Given the description of an element on the screen output the (x, y) to click on. 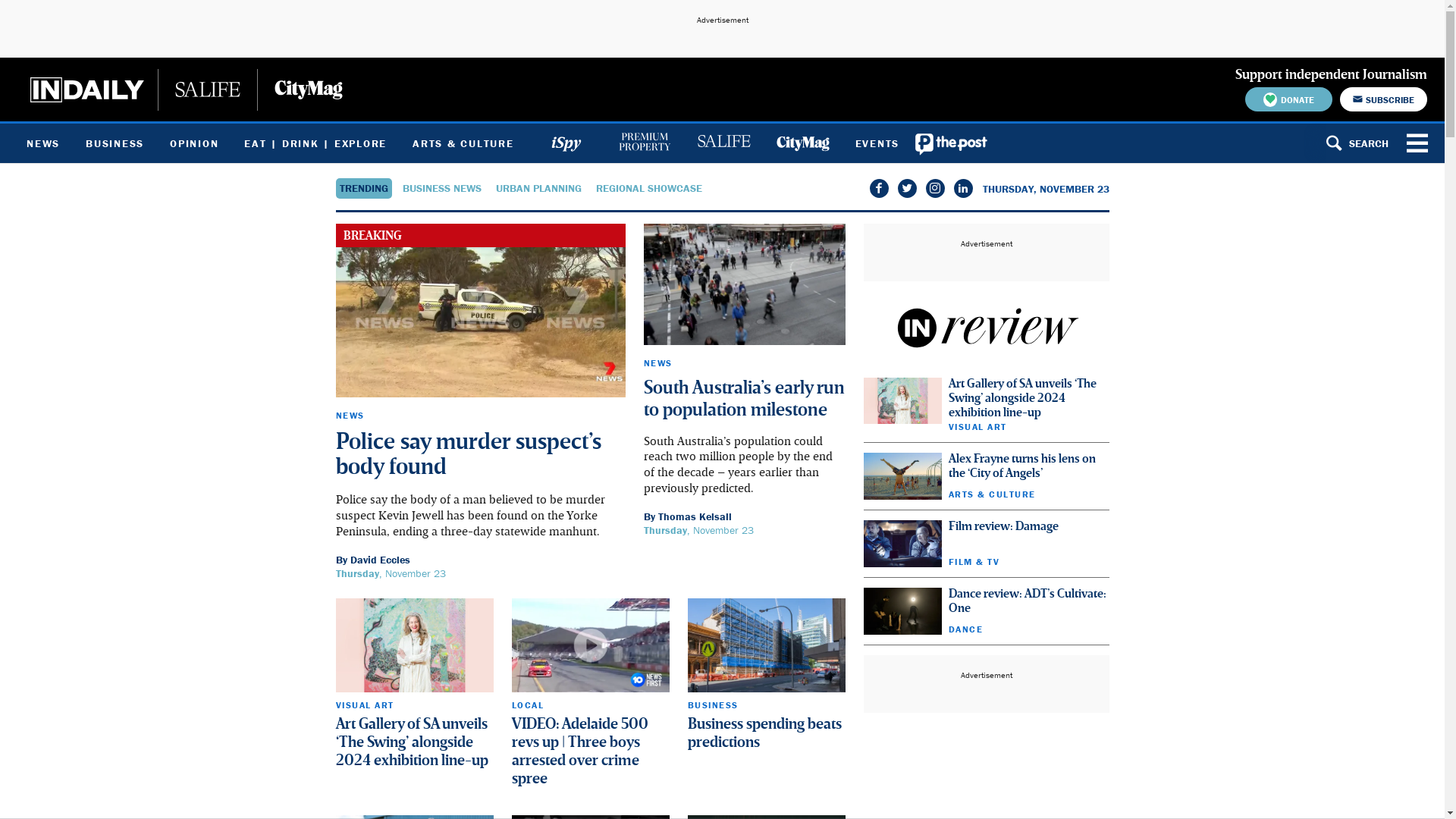
NEWS Element type: text (349, 414)
Film review: Damage Element type: text (1002, 526)
VISUAL ART Element type: text (976, 426)
FILM & TV Element type: text (973, 561)
URBAN PLANNING Element type: text (538, 187)
BUSINESS Element type: text (114, 143)
LOCAL Element type: text (527, 704)
VISUAL ART Element type: text (364, 704)
DONATE Element type: text (1288, 99)
ARTS & CULTURE Element type: text (991, 493)
David Eccles Element type: text (380, 559)
ISPY Element type: text (565, 143)
NEWS Element type: text (42, 143)
Thomas Kelsall Element type: text (694, 516)
NEWS Element type: text (657, 362)
DANCE Element type: text (964, 628)
Business spending beats predictions Element type: text (763, 733)
CITYMAG Element type: text (801, 143)
OPINION Element type: text (193, 143)
REGIONAL SHOWCASE Element type: text (649, 187)
ARTS & CULTURE Element type: text (463, 143)
PREMIUM PROPERTY Element type: text (644, 143)
EVENTS Element type: text (876, 143)
SALIFE Element type: text (723, 143)
BUSINESS Element type: text (712, 704)
BUSINESS NEWS Element type: text (440, 187)
EAT | DRINK | EXPLORE Element type: text (315, 143)
THE POST Element type: text (951, 143)
SUBSCRIBE Element type: text (1383, 99)
